Given the description of an element on the screen output the (x, y) to click on. 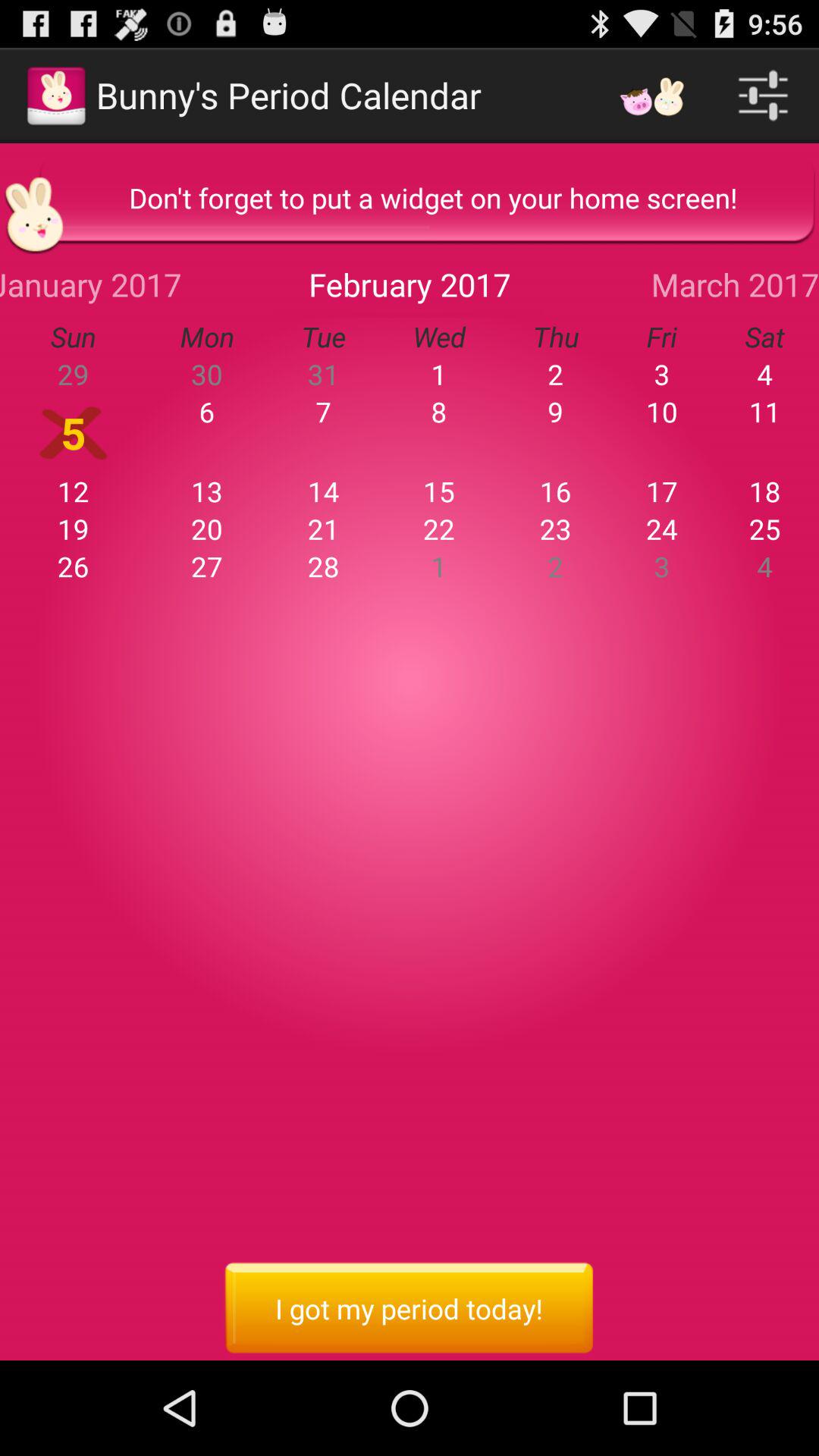
launch app to the right of the 17 item (764, 491)
